Given the description of an element on the screen output the (x, y) to click on. 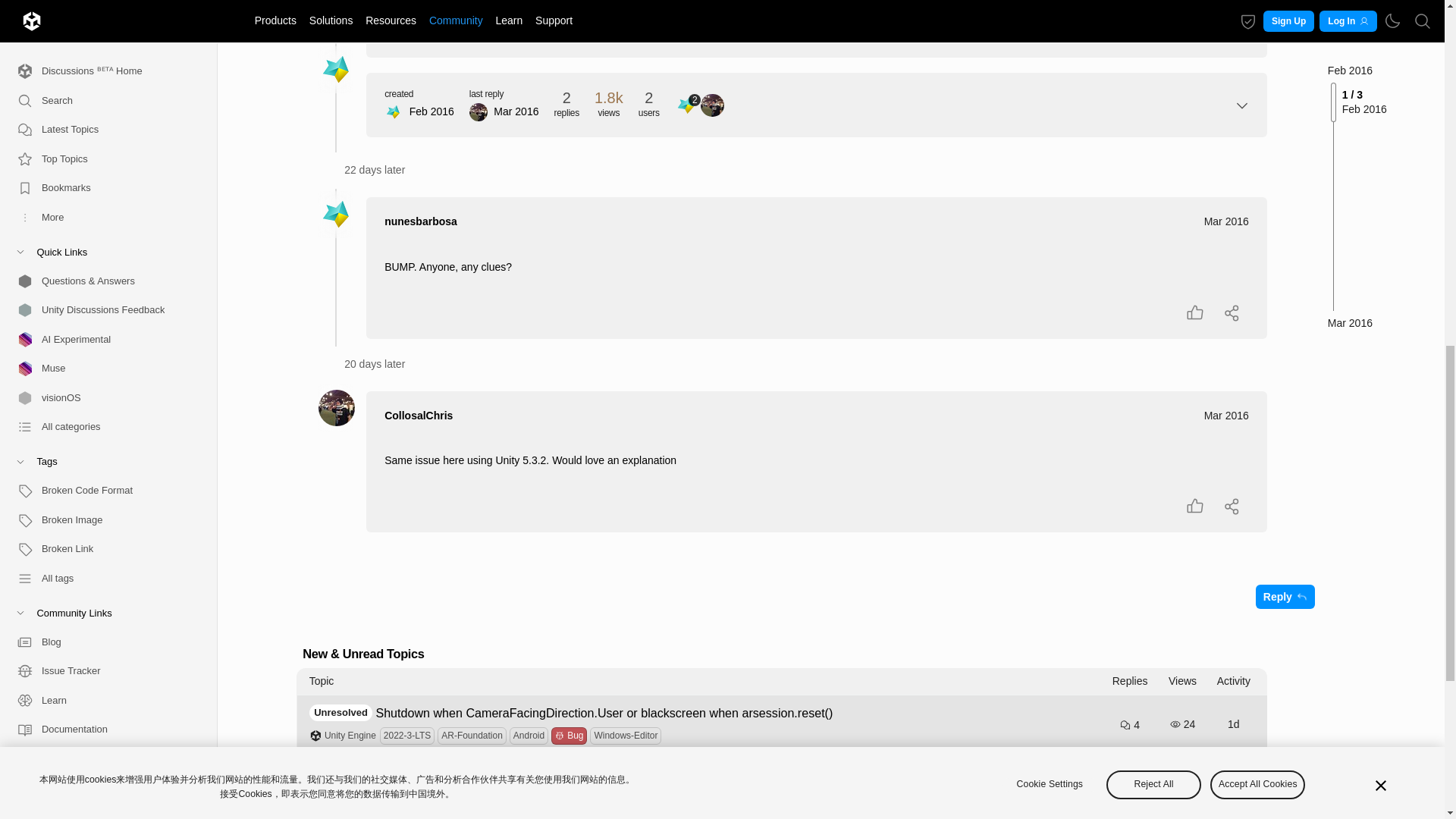
Creator Spotlight (102, 85)
Instagram (102, 289)
Advocates (102, 6)
X (102, 231)
YouTube (102, 202)
Twitch (102, 319)
Discord (102, 261)
LinkedIn (102, 173)
Play (102, 143)
Events (102, 56)
Made with Unity (102, 114)
Unity Pulse (102, 27)
